Given the description of an element on the screen output the (x, y) to click on. 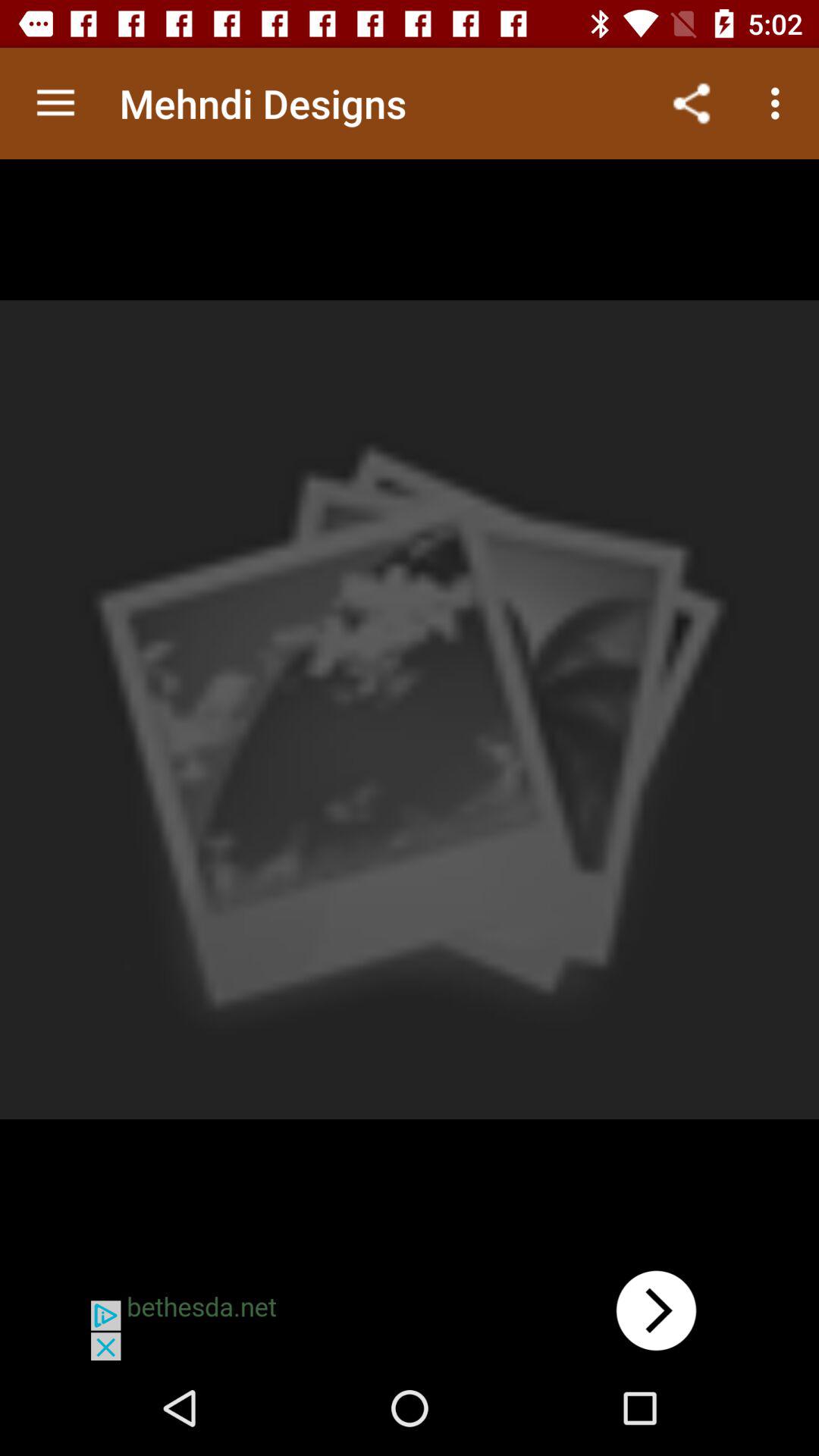
announcement (409, 1310)
